Given the description of an element on the screen output the (x, y) to click on. 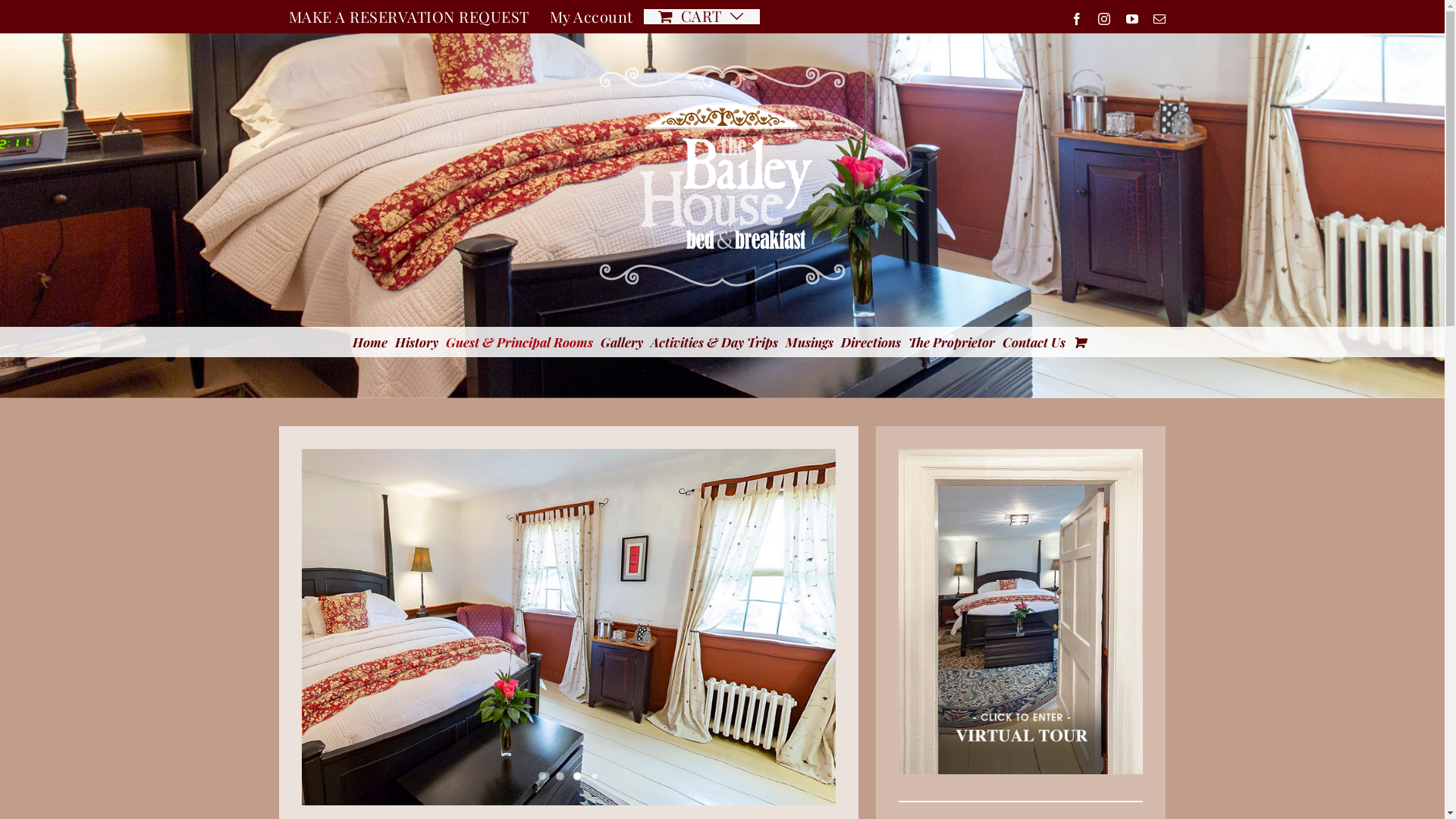
The Proprietor Element type: text (951, 341)
Directions Element type: text (870, 341)
Log In Element type: text (611, 157)
Email Element type: text (1159, 18)
Guest & Principal Rooms Element type: text (519, 341)
Instagram Element type: text (1104, 18)
Facebook Element type: text (1076, 18)
2 Element type: text (559, 775)
1 Element type: text (542, 775)
YouTube Element type: text (1131, 18)
MAKE A RESERVATION REQUEST Element type: text (409, 16)
My Account Element type: text (591, 16)
History Element type: text (415, 341)
Contact Us Element type: text (1033, 341)
4 Element type: text (594, 775)
Gallery Element type: text (621, 341)
Activities & Day Trips Element type: text (714, 341)
CART Element type: text (701, 16)
Home Element type: text (368, 341)
Musings Element type: text (809, 341)
3 Element type: text (577, 775)
